Given the description of an element on the screen output the (x, y) to click on. 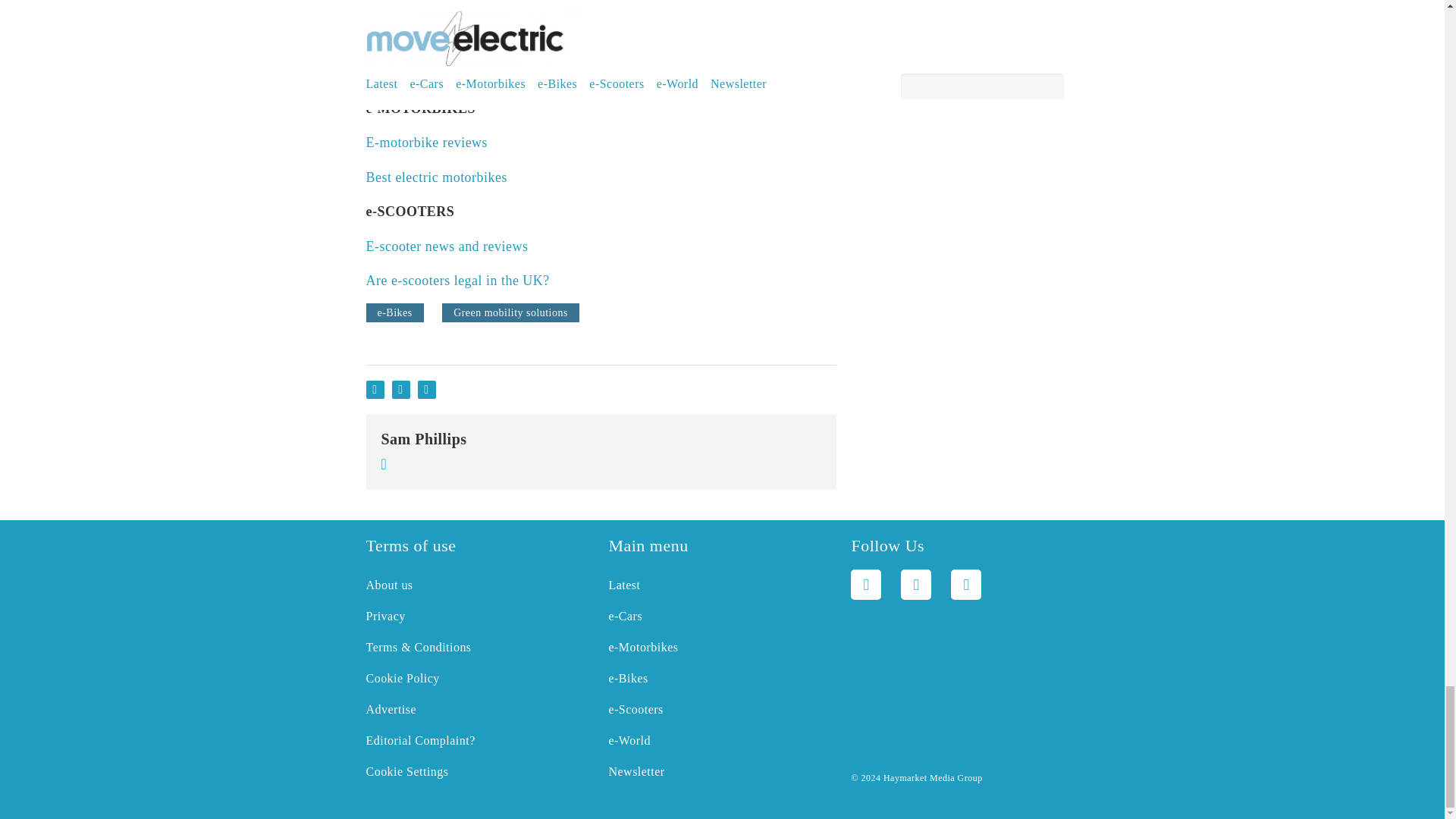
Green mobility solutions (510, 312)
Best electric motorbikes (435, 177)
E-bike buyer's guide (424, 73)
Are e-scooters legal in the UK? (456, 280)
e-Bikes (394, 312)
E-bike reviews and news (438, 38)
E-scooter news and reviews (446, 246)
E-motorbike reviews (426, 142)
